Given the description of an element on the screen output the (x, y) to click on. 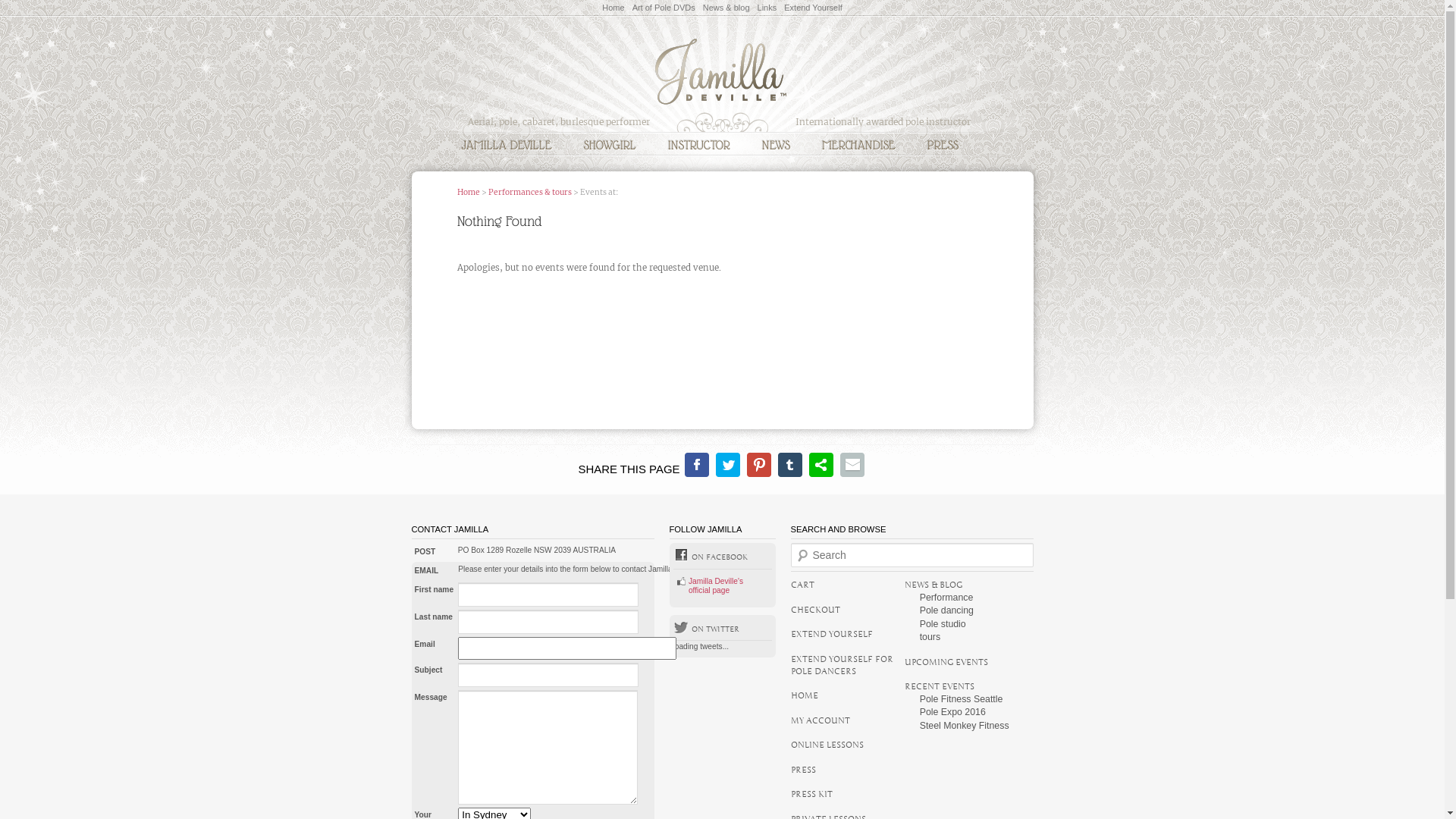
INSTRUCTOR Element type: text (698, 143)
PRESS Element type: text (942, 143)
Search Element type: text (37, 15)
NEWS Element type: text (775, 143)
JAMILLA DEVILLE Element type: text (506, 143)
Skip to secondary content Element type: text (186, 17)
EXTEND YOURSELF Element type: text (831, 633)
PRESS KIT Element type: text (810, 793)
Links Element type: text (767, 7)
UPCOMING EVENTS Element type: text (946, 661)
ONLINE LESSONS Element type: text (826, 744)
Home Element type: text (612, 7)
NEWS & BLOG Element type: text (933, 584)
EXTEND YOURSELF FOR POLE DANCERS Element type: text (841, 664)
Performances & tours Element type: text (529, 192)
HOME Element type: text (803, 695)
Extend Yourself Element type: text (812, 7)
Home Element type: text (467, 192)
Skip to primary content Element type: text (181, 17)
Steel Monkey Fitness Element type: text (964, 725)
Pole studio Element type: text (942, 623)
Pole dancing Element type: text (946, 610)
RECENT EVENTS Element type: text (939, 685)
Jamilla Deville's
official page Element type: text (715, 585)
Pole Fitness Seattle Element type: text (961, 698)
PRESS Element type: text (802, 769)
MERCHANDISE Element type: text (857, 143)
Jamilla Deville Element type: hover (721, 104)
Performance Element type: text (946, 597)
CHECKOUT Element type: text (814, 609)
Pole Expo 2016 Element type: text (952, 711)
News & blog Element type: text (726, 7)
Proudly powered by WordPress Element type: text (722, 524)
tours Element type: text (929, 636)
CART Element type: text (801, 584)
SHOWGIRL Element type: text (608, 143)
MY ACCOUNT Element type: text (819, 720)
Art of Pole DVDs Element type: text (663, 7)
